Given the description of an element on the screen output the (x, y) to click on. 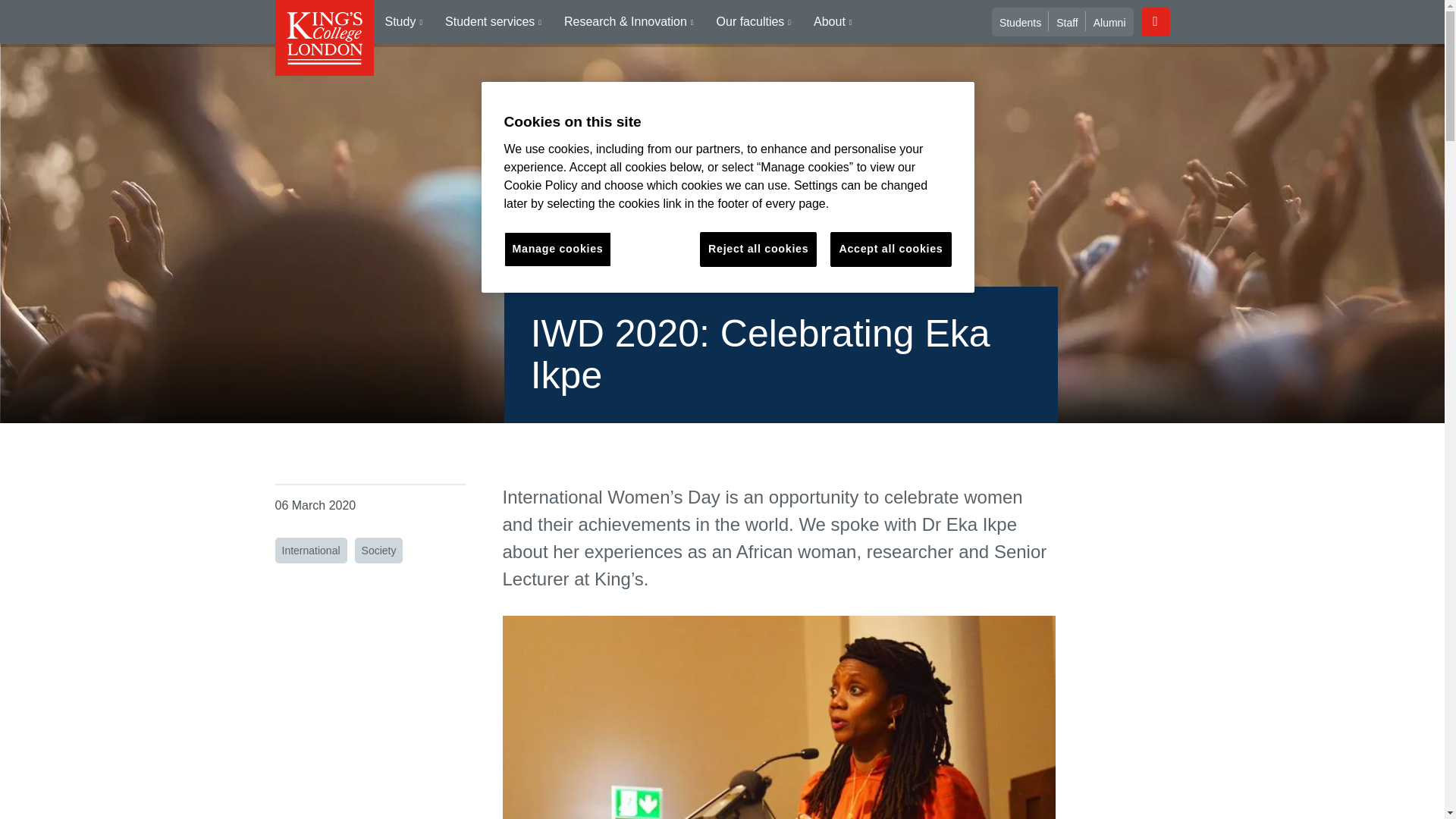
King's College London (323, 38)
Our faculties (753, 22)
Study (402, 22)
Student services (493, 22)
King's College London - Back to homepage (323, 38)
Study (402, 22)
Student services (493, 22)
